Given the description of an element on the screen output the (x, y) to click on. 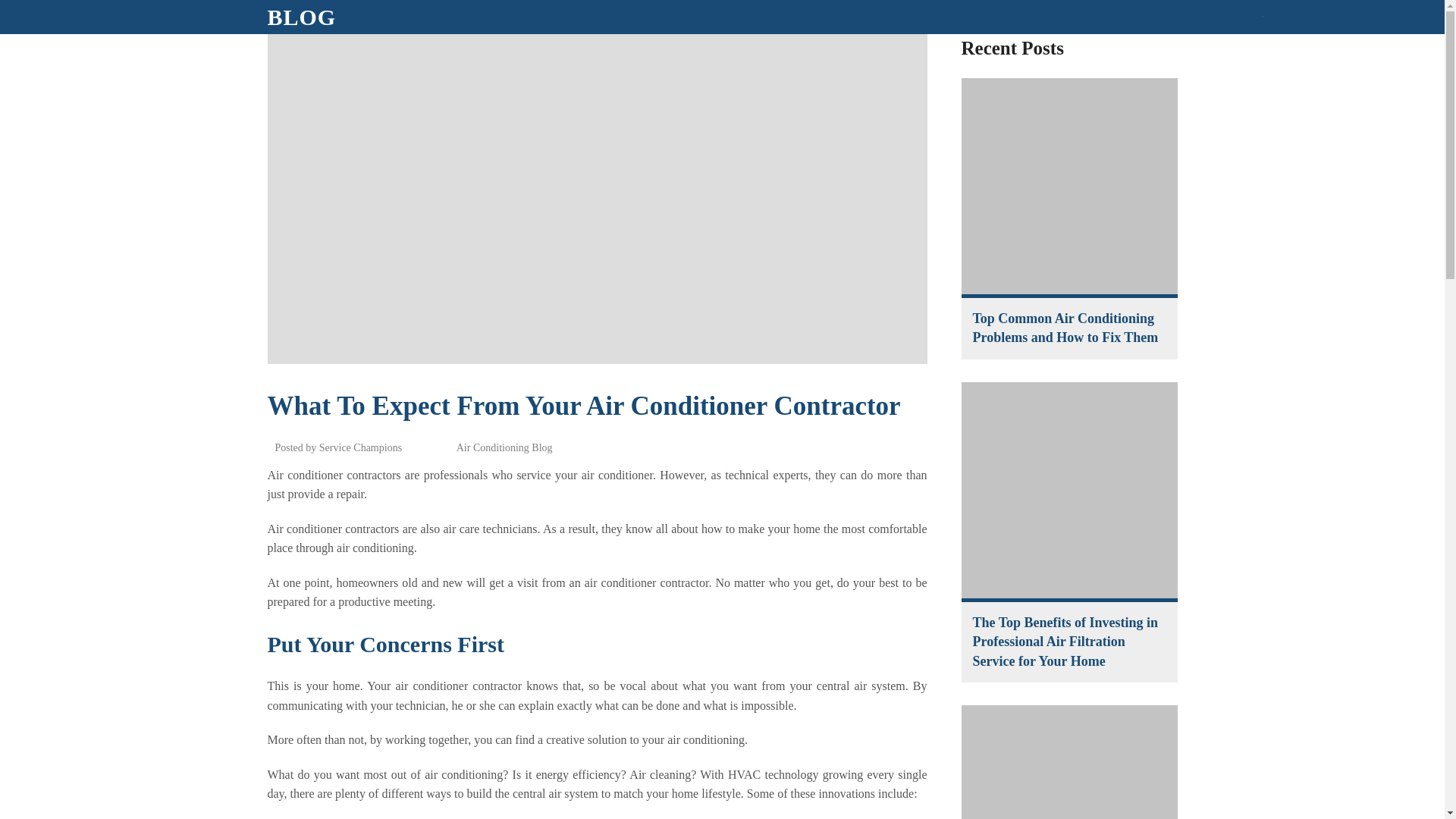
Top Common Air Conditioning Problems and How to Fix Them (1068, 186)
